Given the description of an element on the screen output the (x, y) to click on. 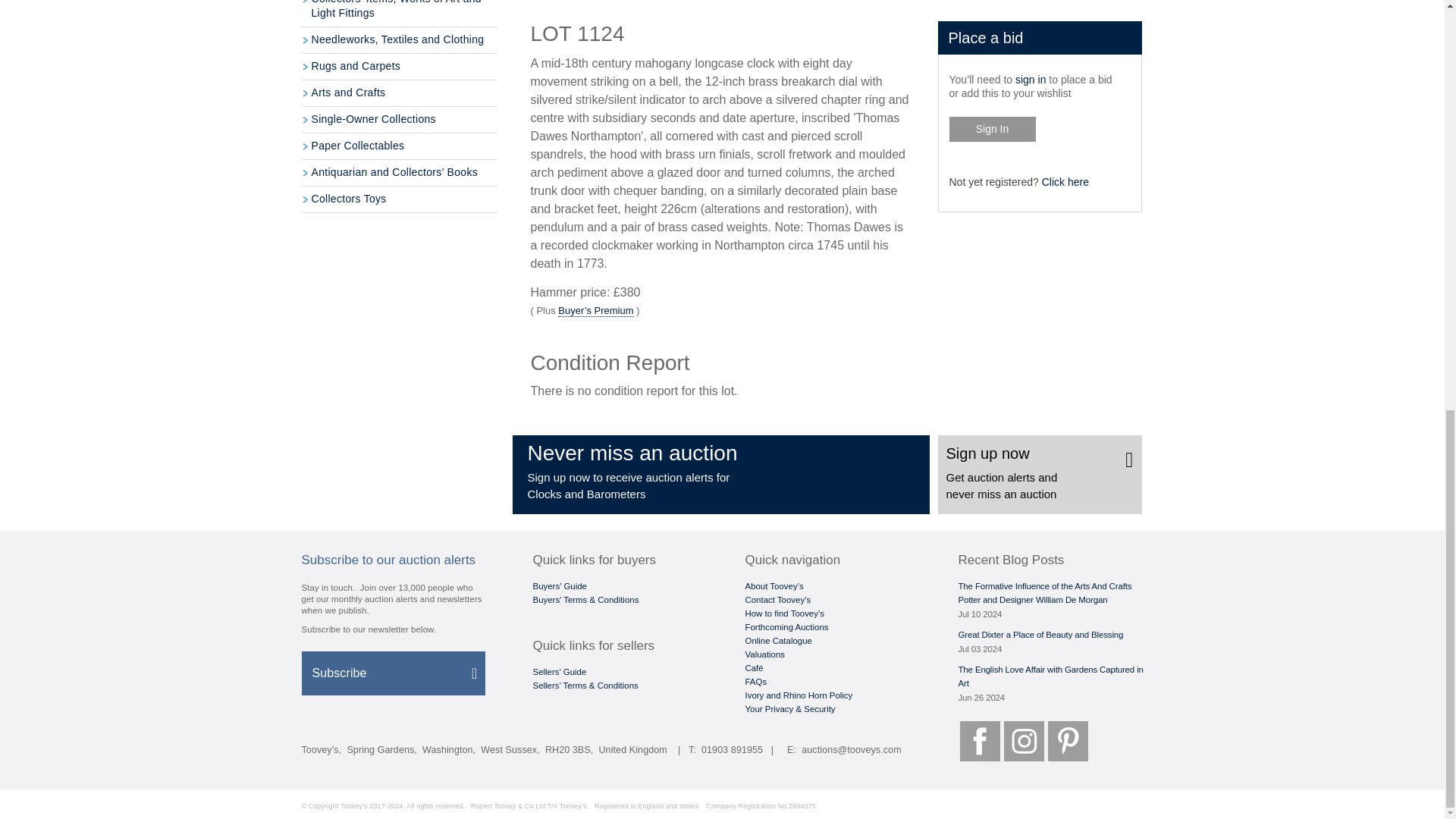
Needleworks, Textiles and Clothing (399, 40)
Arts and Crafts (399, 93)
Collectors Toys (399, 199)
Paper Collectables (399, 146)
Single-Owner Collections (399, 120)
Rugs and Carpets (399, 67)
